Given the description of an element on the screen output the (x, y) to click on. 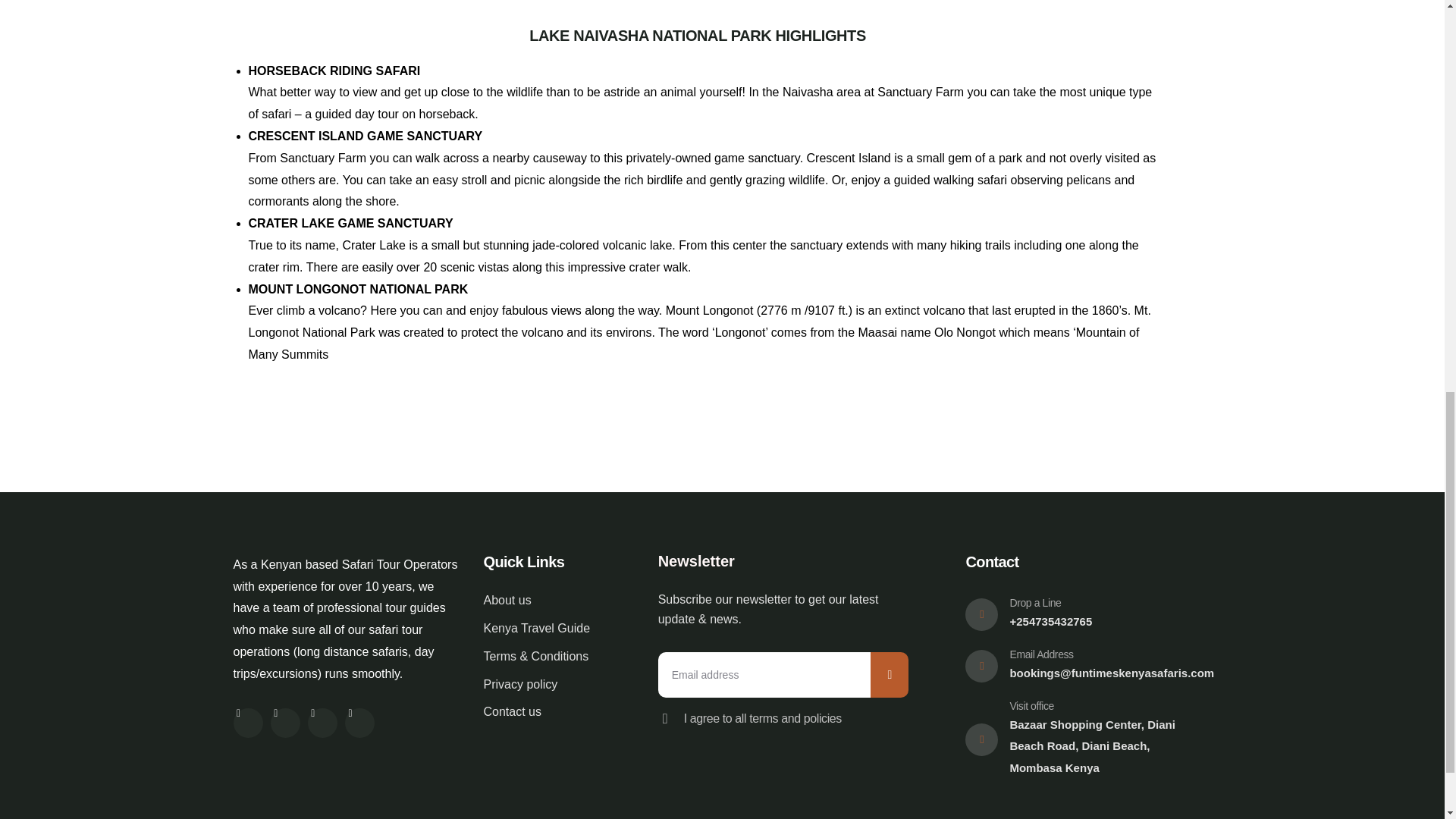
About us (551, 600)
Kenya Travel Guide (551, 628)
Privacy policy (551, 685)
Contact us (551, 712)
